Given the description of an element on the screen output the (x, y) to click on. 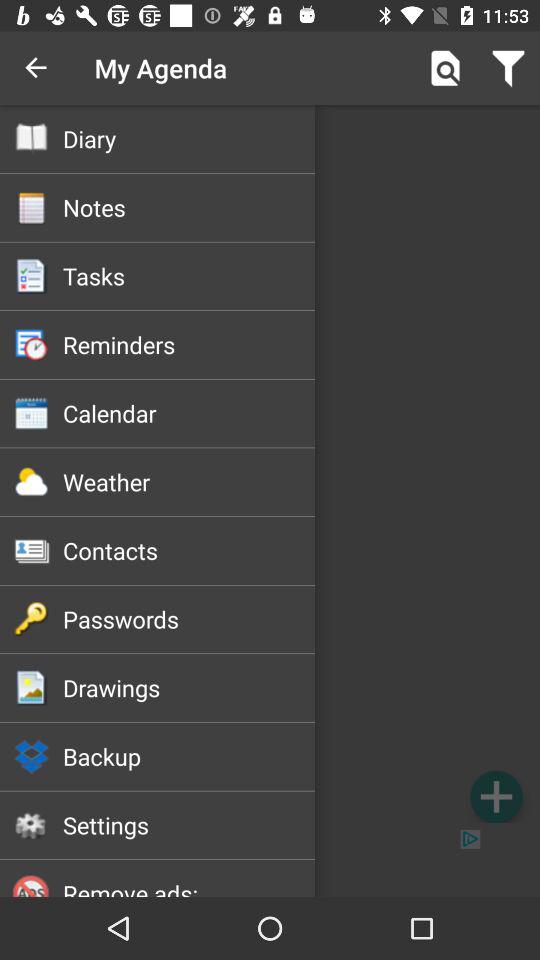
tap the icon above the contacts item (188, 482)
